Given the description of an element on the screen output the (x, y) to click on. 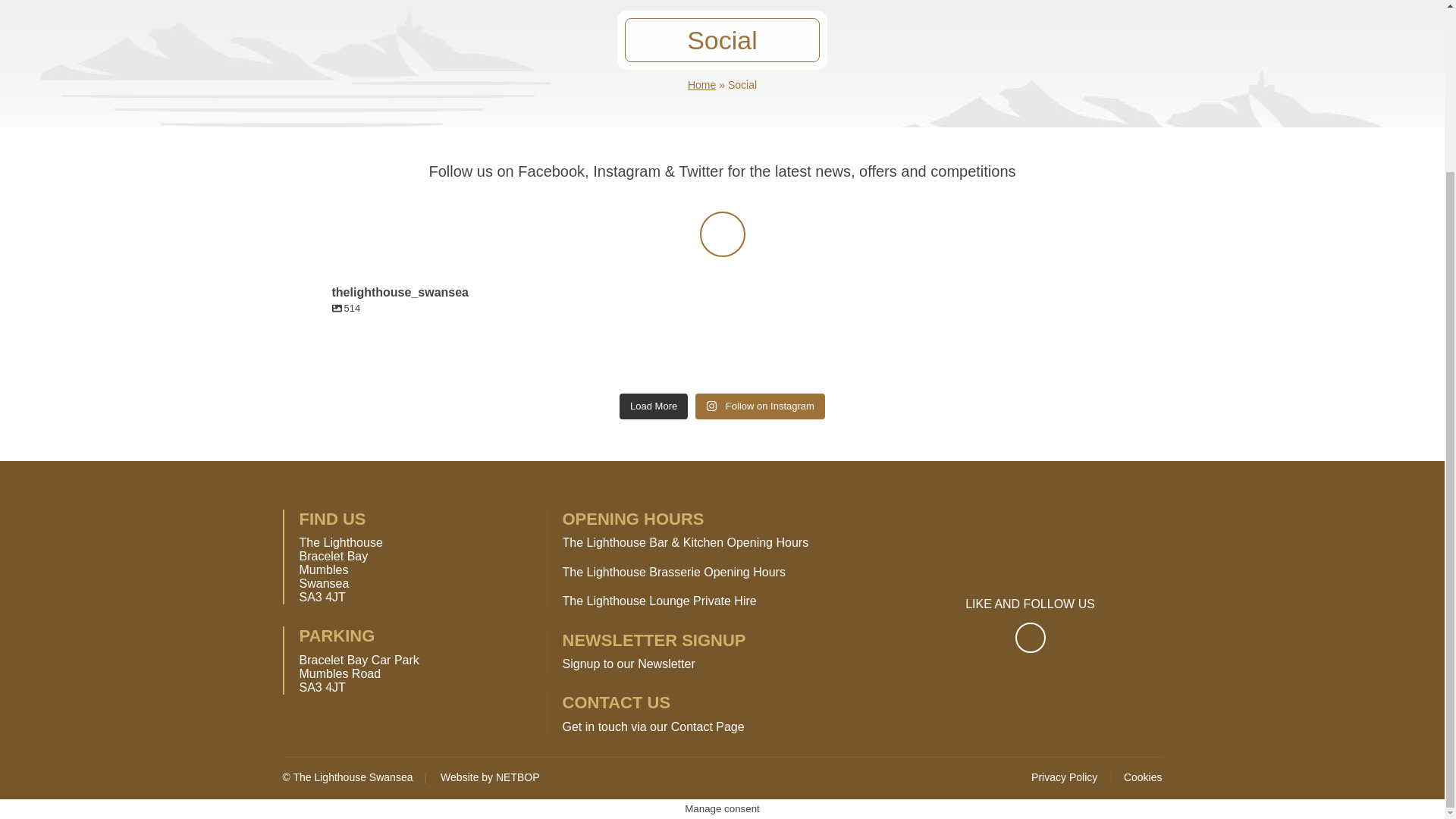
Home (701, 84)
Instagram (721, 234)
Find us on Instagram (721, 234)
